Given the description of an element on the screen output the (x, y) to click on. 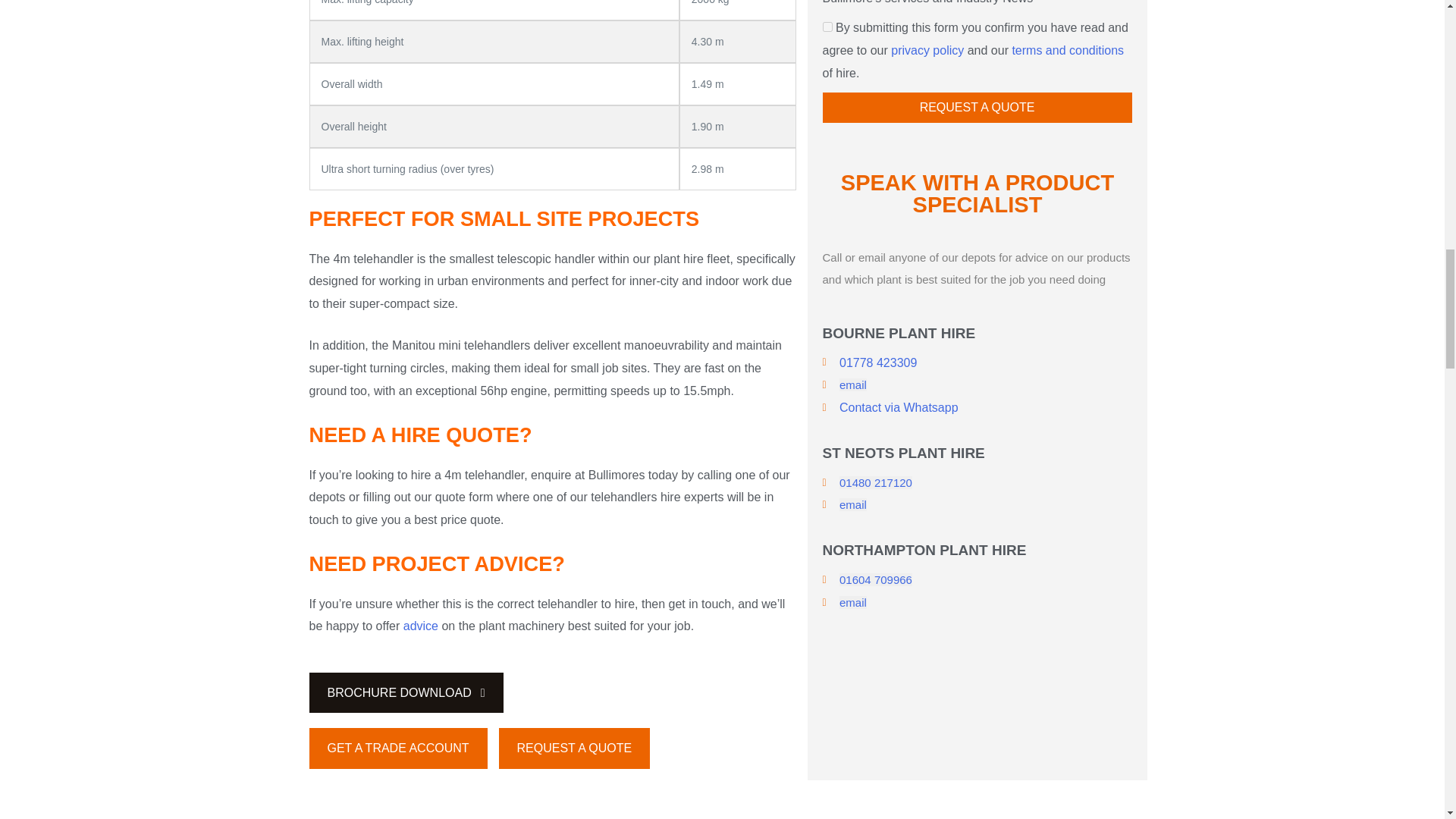
on (826, 26)
Bullimores Plant Whatsapp (899, 407)
